Given the description of an element on the screen output the (x, y) to click on. 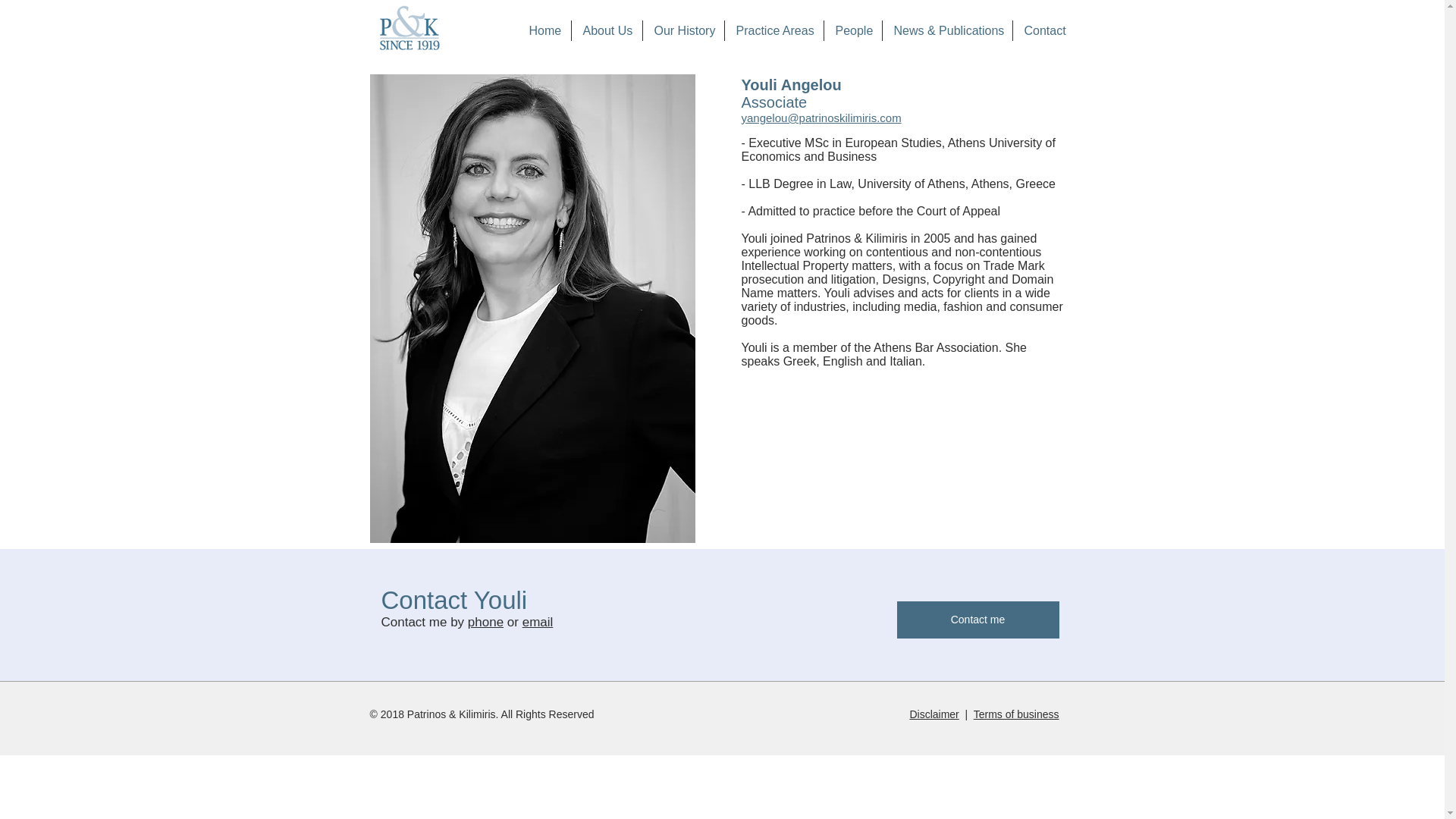
Contact me (977, 619)
Terms of business (1016, 714)
phone (485, 622)
email (537, 622)
Home (543, 30)
Contact (1044, 30)
Disclaimer (933, 714)
